Given the description of an element on the screen output the (x, y) to click on. 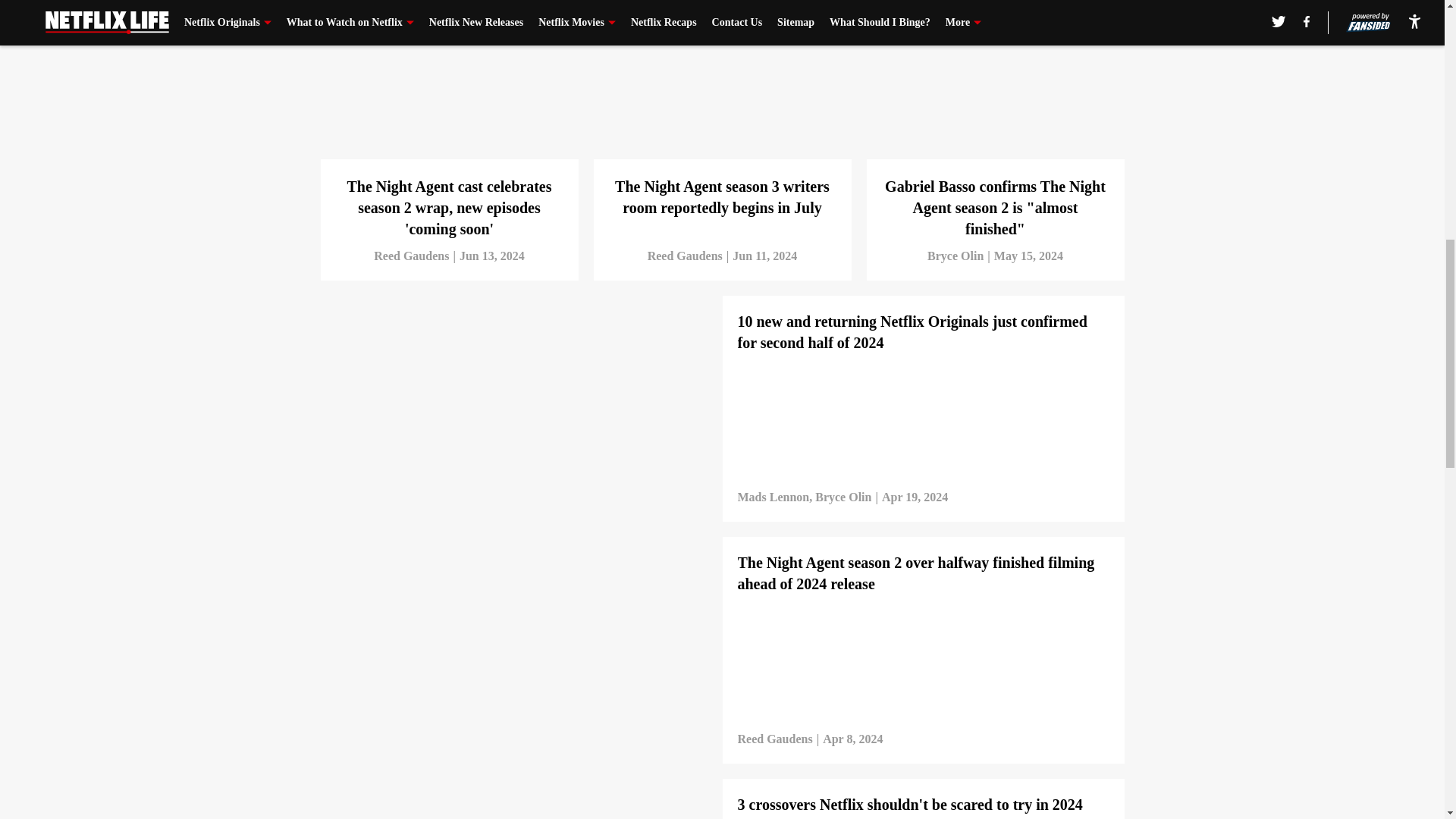
Reed Gaudens (411, 256)
